Given the description of an element on the screen output the (x, y) to click on. 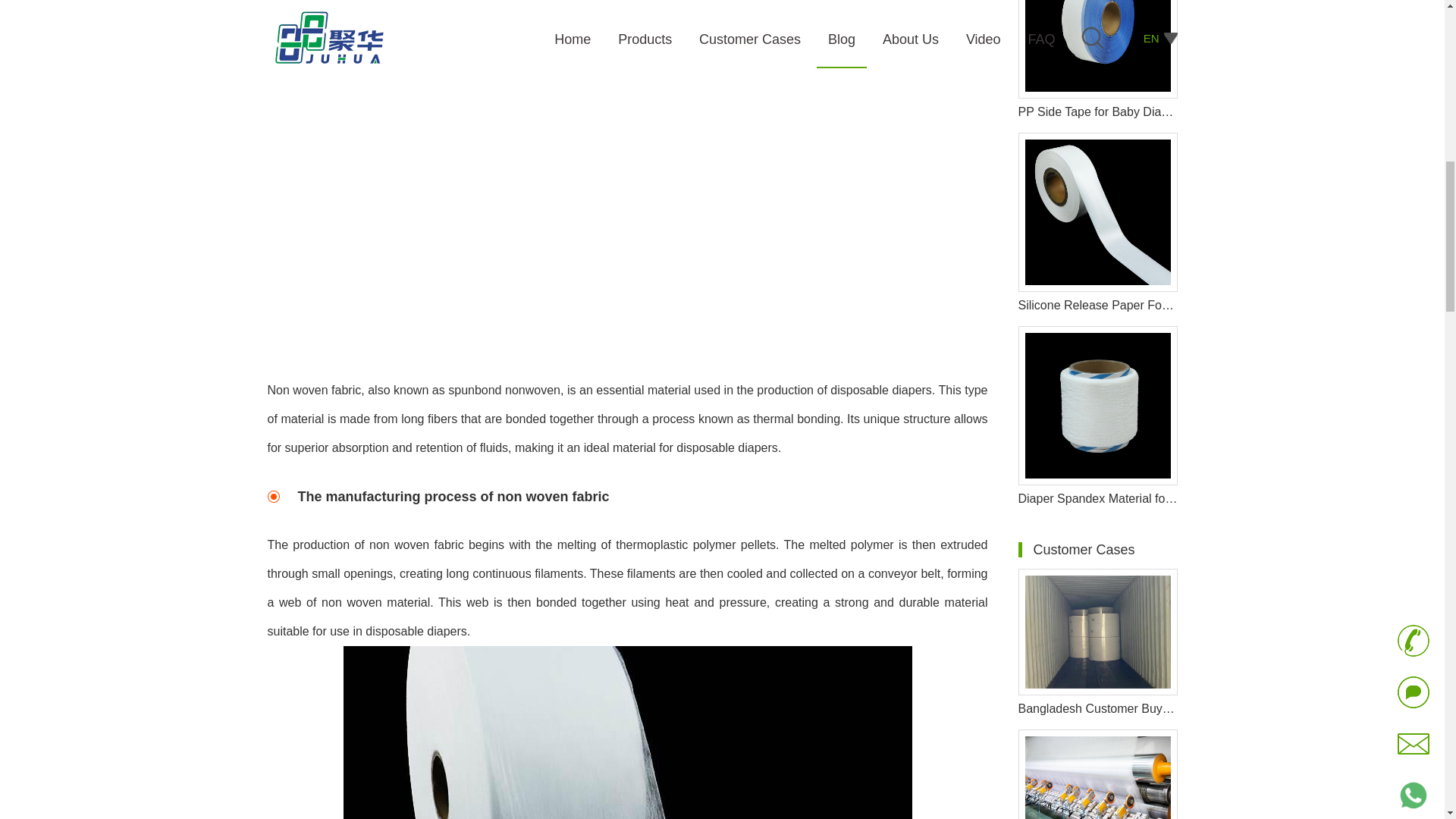
non woven (626, 732)
